Given the description of an element on the screen output the (x, y) to click on. 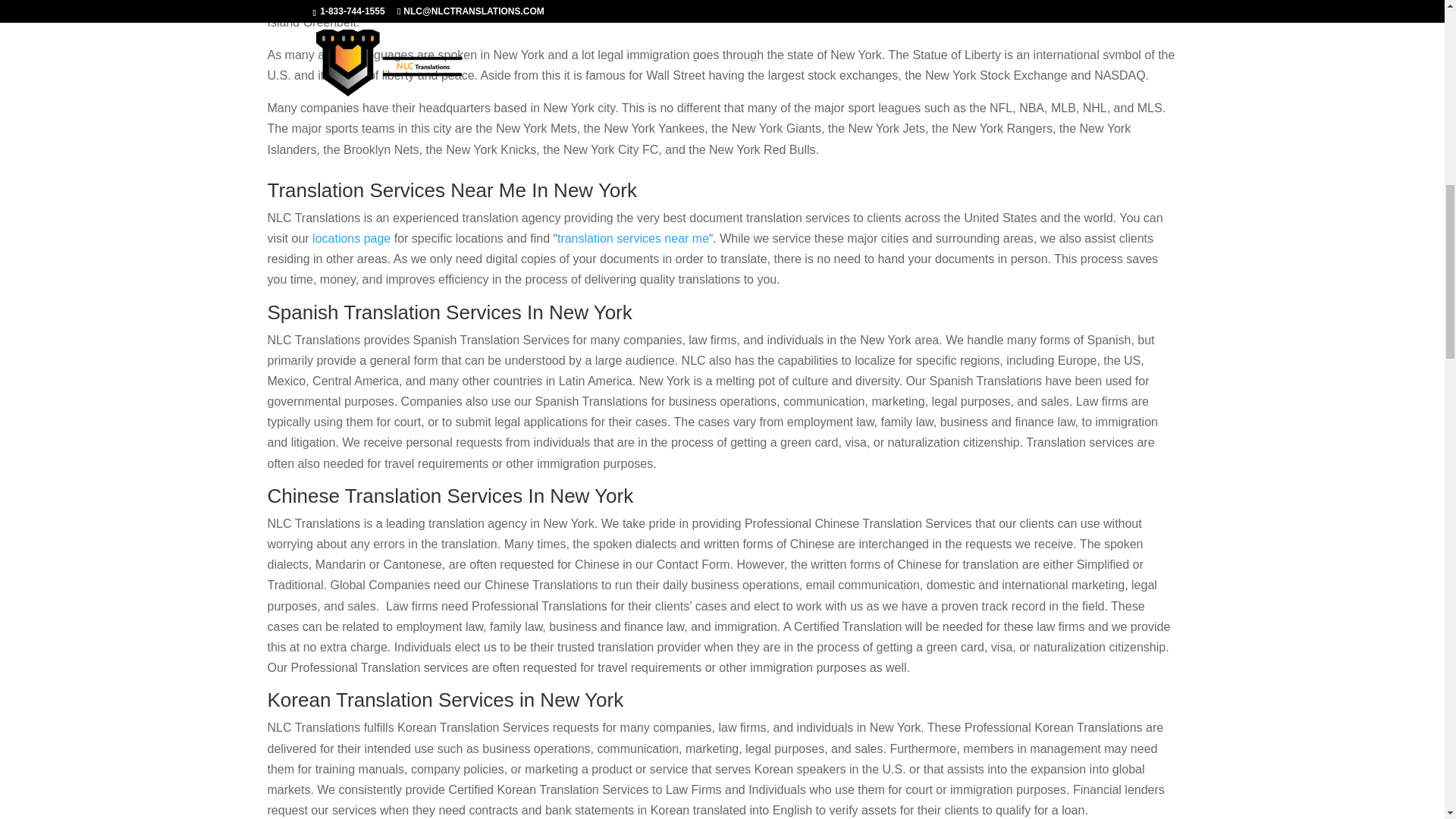
Translation Services Near Me (633, 237)
Translation Locations (351, 237)
translation services near me (633, 237)
locations page (351, 237)
